Given the description of an element on the screen output the (x, y) to click on. 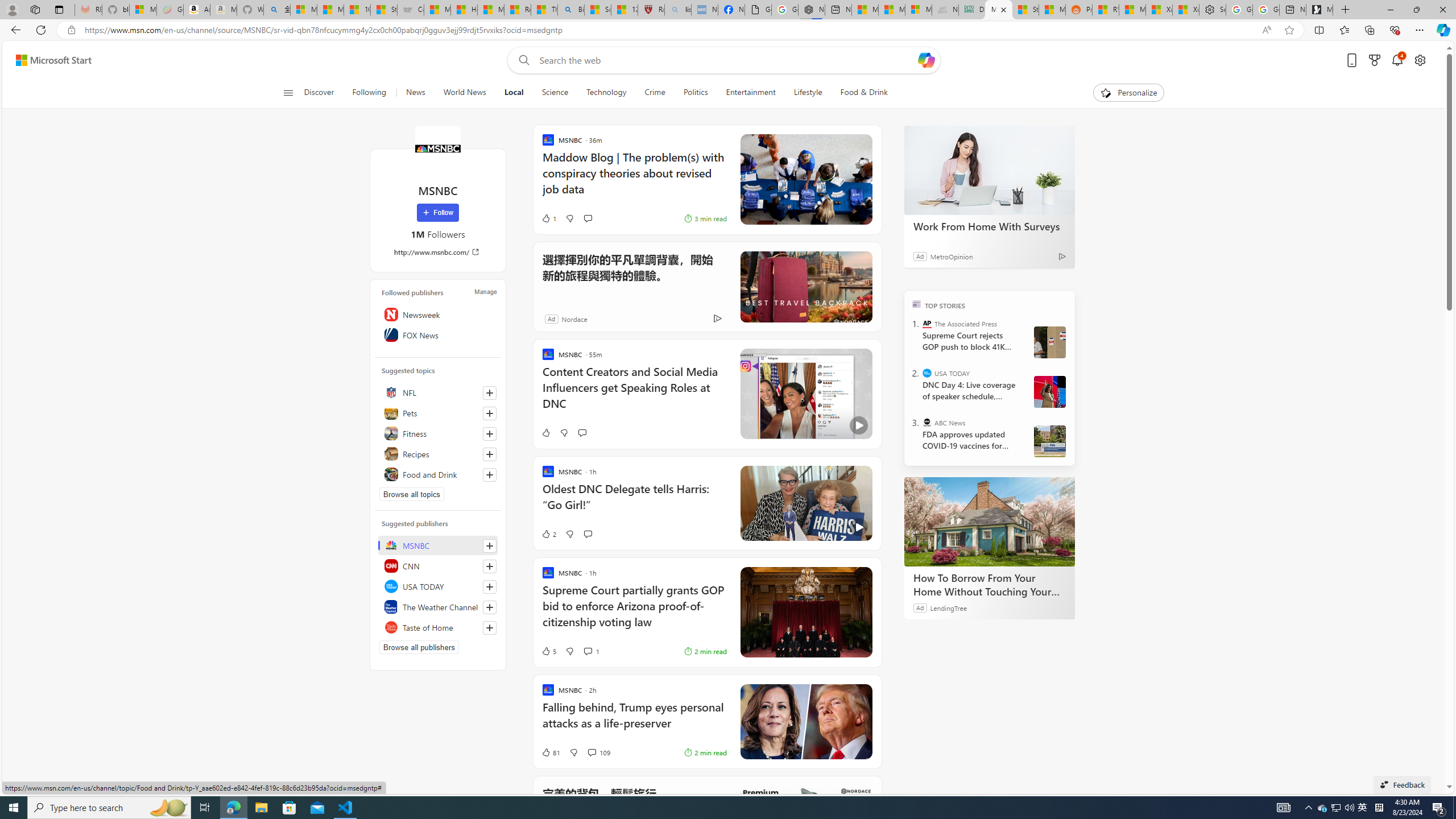
View comments 109 Comment (598, 752)
USA TODAY (437, 586)
Follow this source (489, 627)
Manage (485, 291)
Recipes (437, 453)
